Given the description of an element on the screen output the (x, y) to click on. 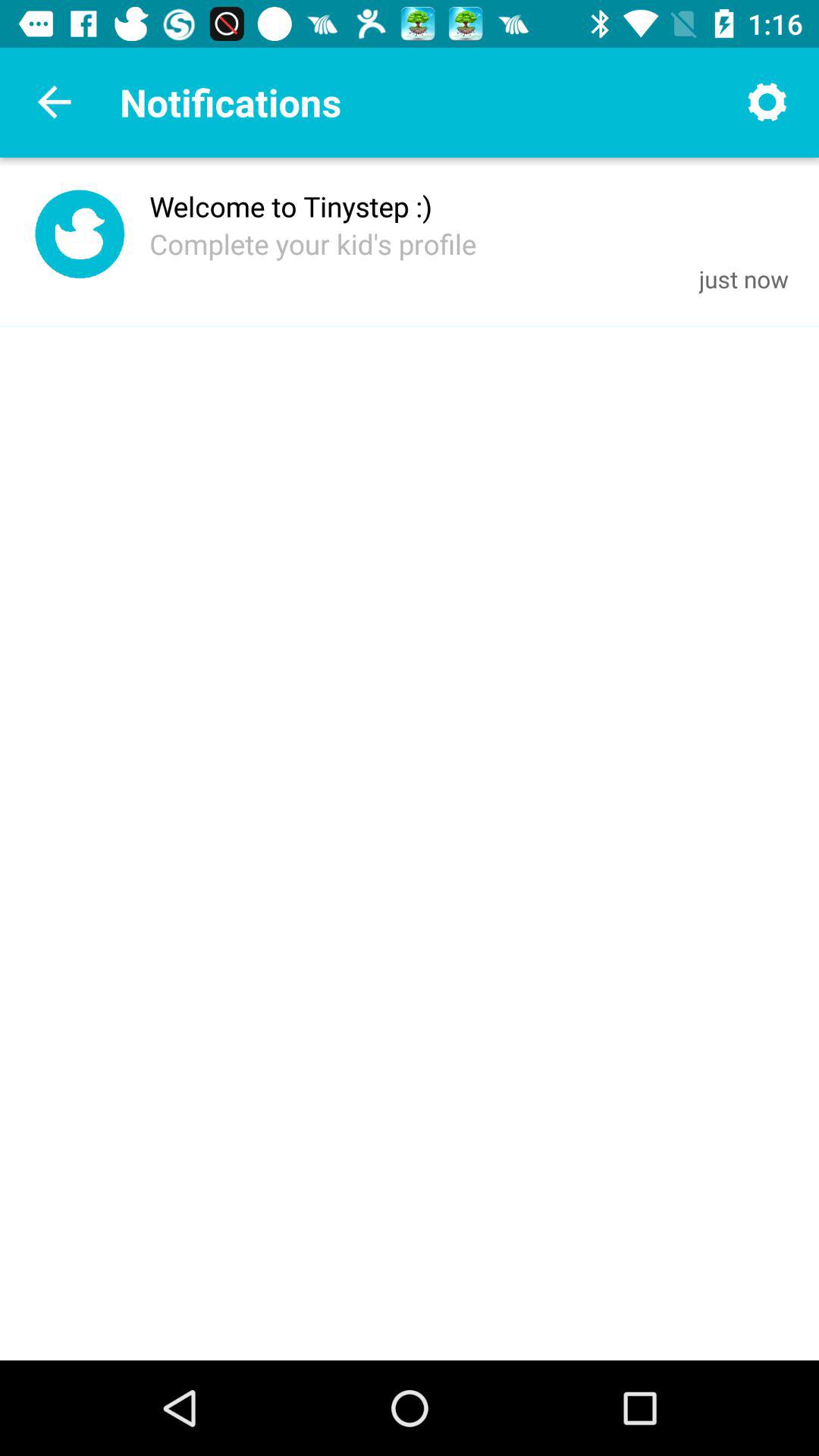
go to back screen (54, 102)
